Given the description of an element on the screen output the (x, y) to click on. 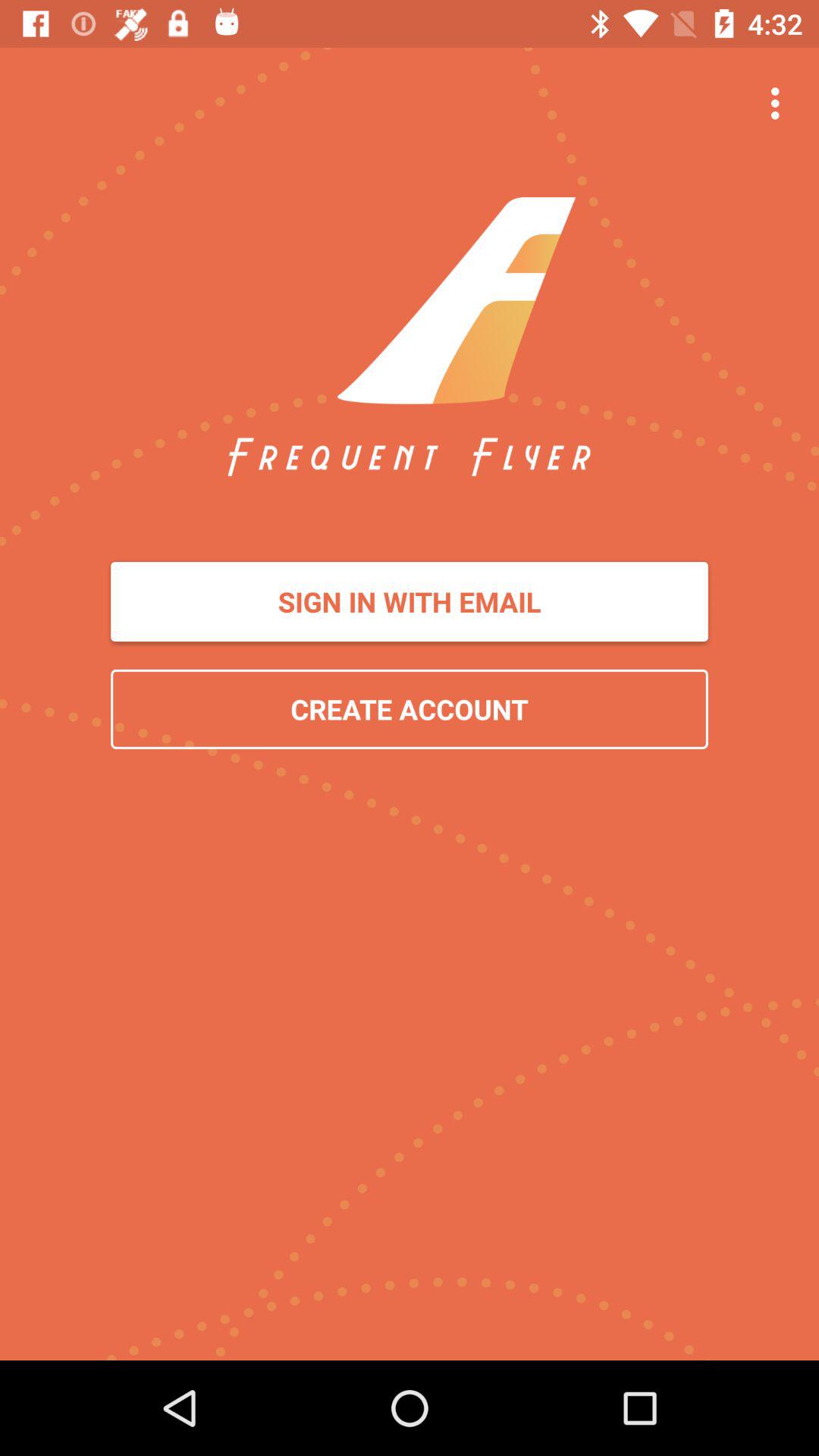
scroll until create account (409, 709)
